Given the description of an element on the screen output the (x, y) to click on. 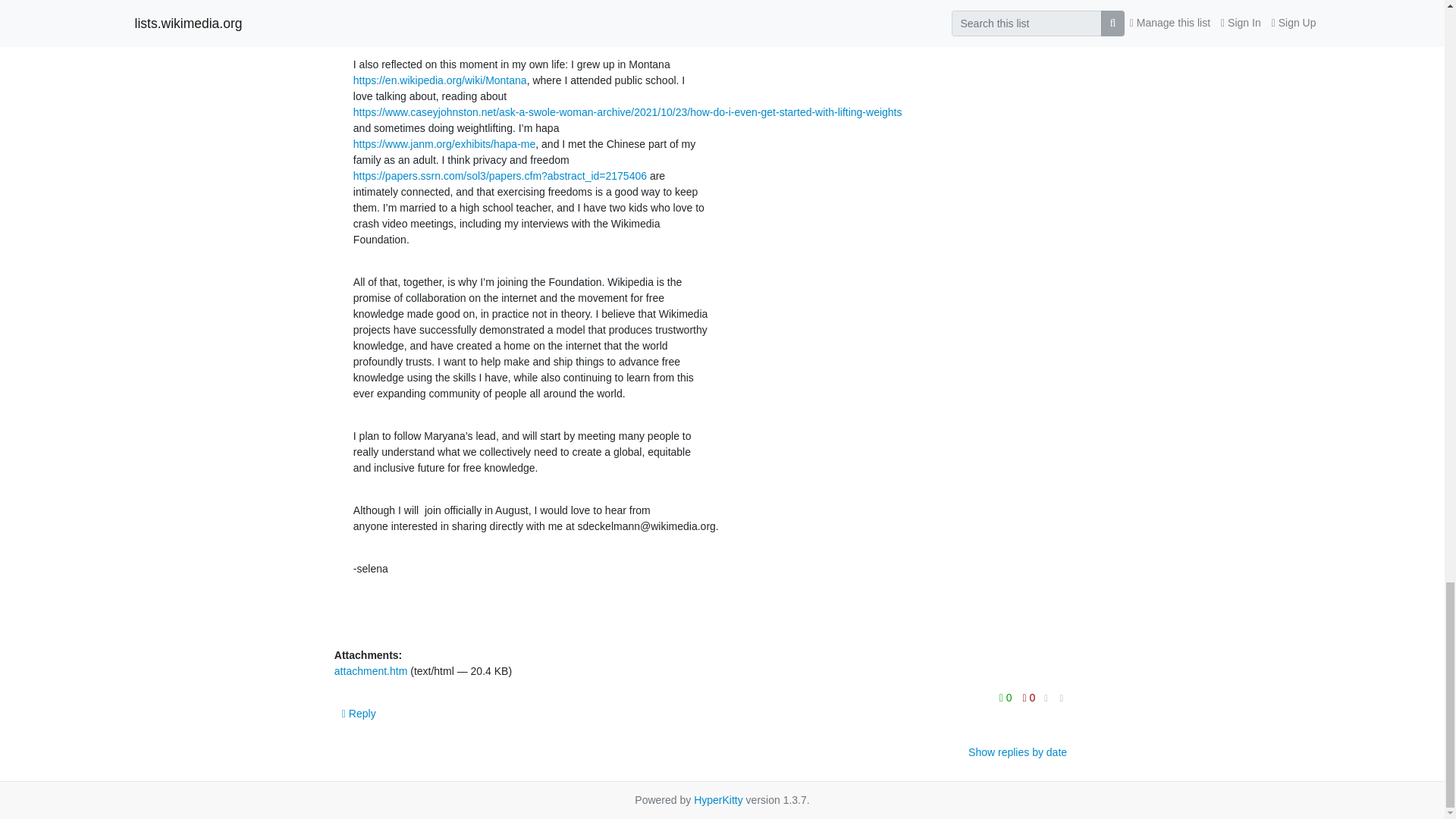
Sign in to reply online (359, 713)
You must be logged-in to vote. (1029, 697)
You must be logged-in to vote. (1007, 697)
